Given the description of an element on the screen output the (x, y) to click on. 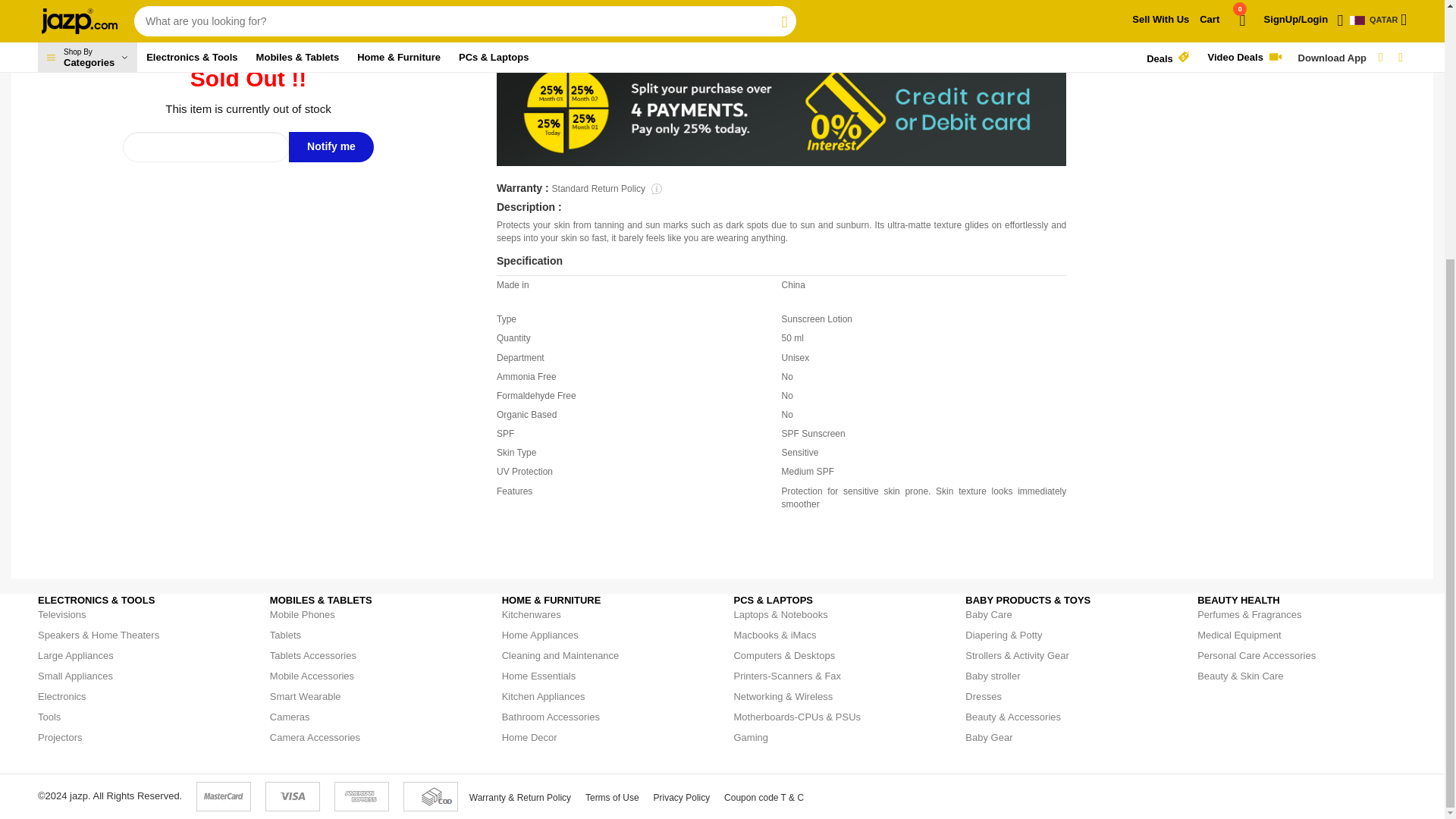
Notify me (331, 146)
